Given the description of an element on the screen output the (x, y) to click on. 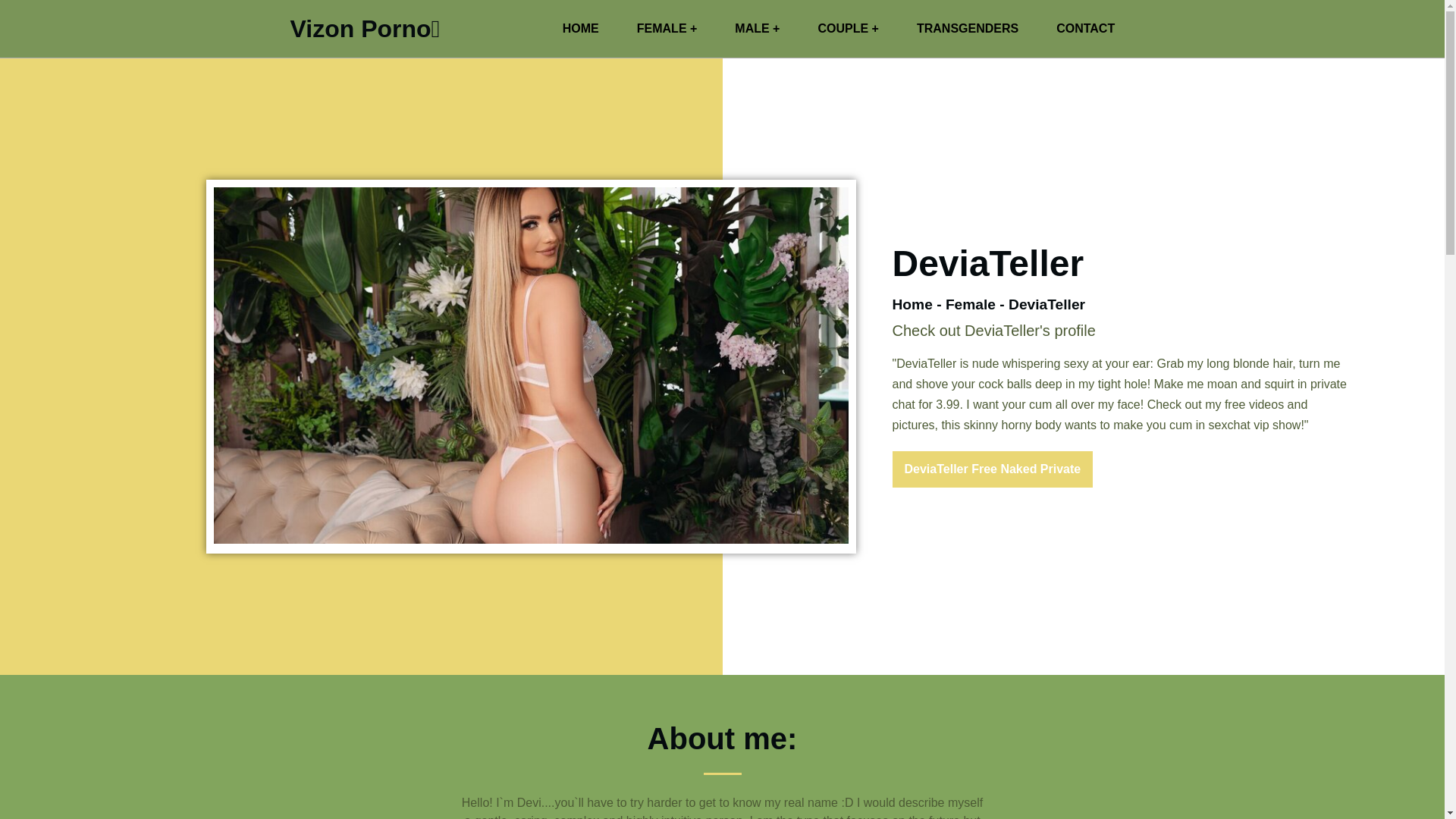
HOME (580, 28)
CONTACT (1086, 28)
TRANSGENDERS (967, 28)
DeviaTeller Free Naked Private (992, 469)
Vizon Porno? (580, 28)
Home (911, 304)
Transgenders (967, 28)
Vizon Porno? (364, 28)
Female (969, 304)
Contact (1086, 28)
